Given the description of an element on the screen output the (x, y) to click on. 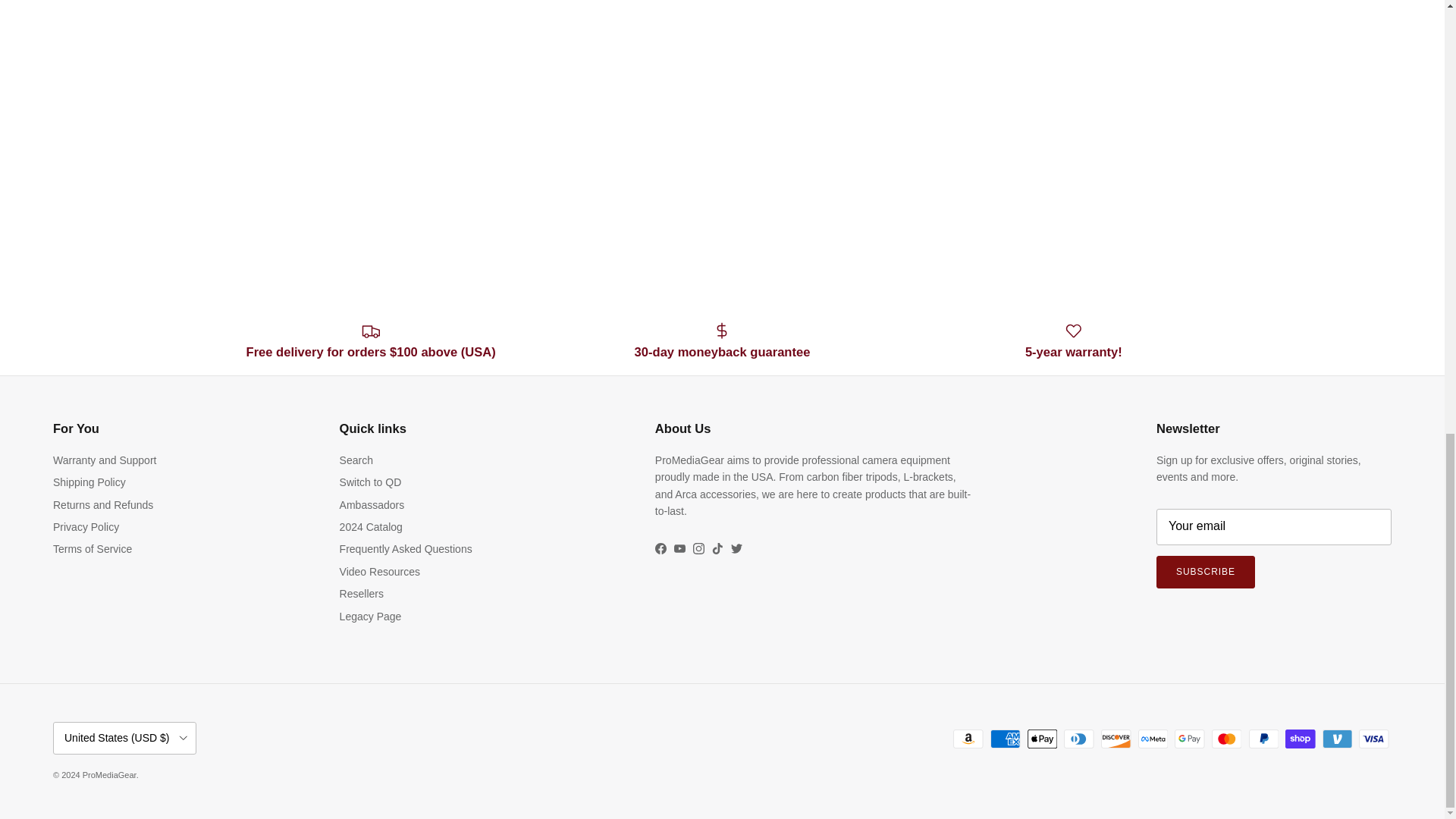
ProMediaGear on YouTube (679, 548)
ProMediaGear on Instagram (698, 548)
Amazon (967, 738)
Venmo (1337, 738)
Apple Pay (1042, 738)
Discover (1115, 738)
Meta Pay (1152, 738)
Mastercard (1226, 738)
Google Pay (1189, 738)
PayPal (1262, 738)
American Express (1005, 738)
ProMediaGear on Twitter (736, 548)
Shop Pay (1299, 738)
Visa (1373, 738)
Diners Club (1078, 738)
